Given the description of an element on the screen output the (x, y) to click on. 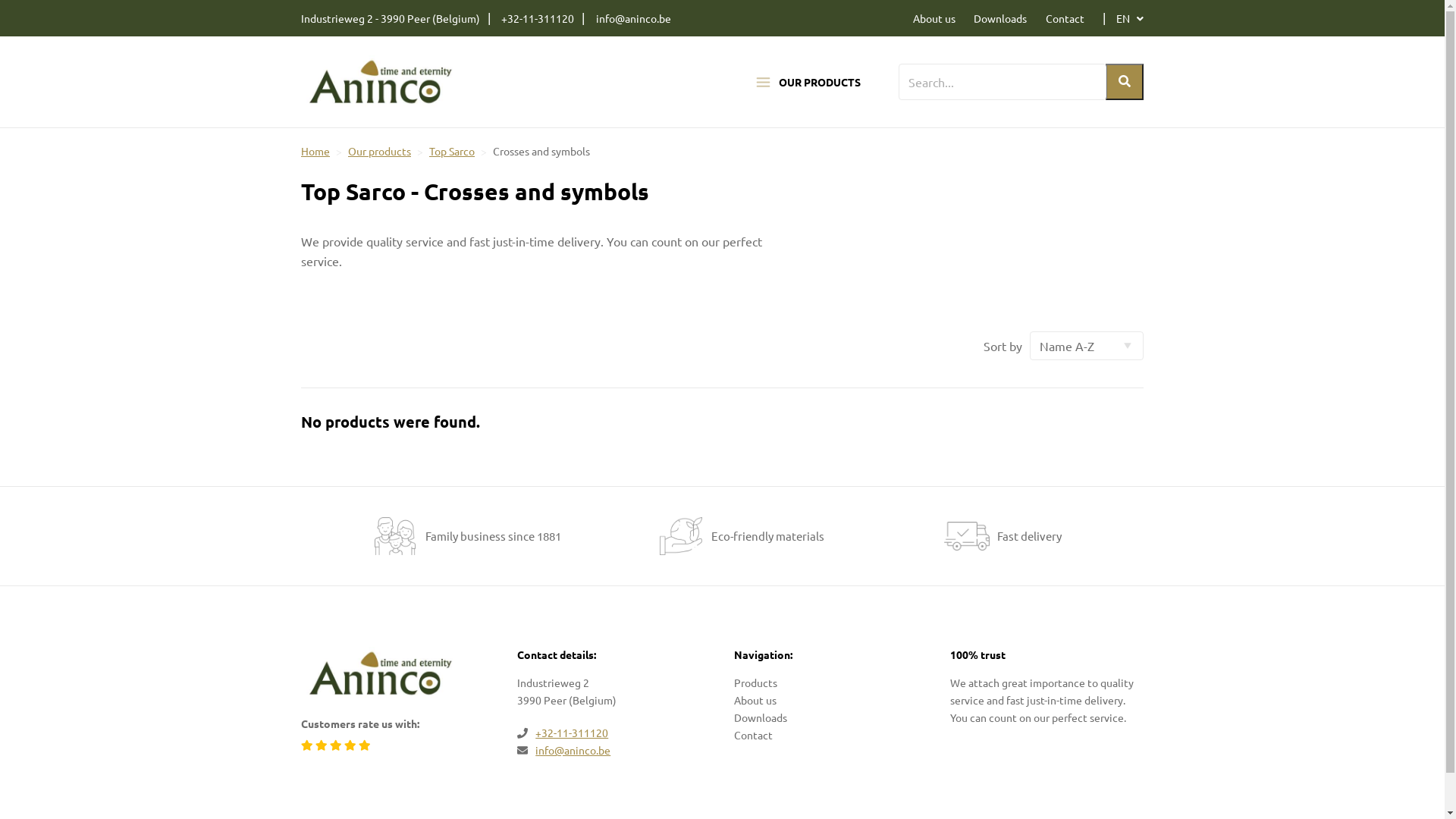
Contact Element type: text (753, 734)
Downloads Element type: text (999, 18)
About us Element type: text (755, 699)
info@aninco.be Element type: text (572, 749)
Downloads Element type: text (760, 717)
Our products Element type: text (379, 150)
+32-11-311120 Element type: text (537, 18)
EN Element type: text (1129, 18)
Home Element type: text (315, 150)
Top Sarco Element type: text (451, 150)
OUR PRODUCTS Element type: text (807, 81)
About us Element type: text (934, 18)
+32-11-311120 Element type: text (571, 732)
Products Element type: text (755, 682)
info@aninco.be Element type: text (633, 18)
Contact Element type: text (1064, 18)
